Given the description of an element on the screen output the (x, y) to click on. 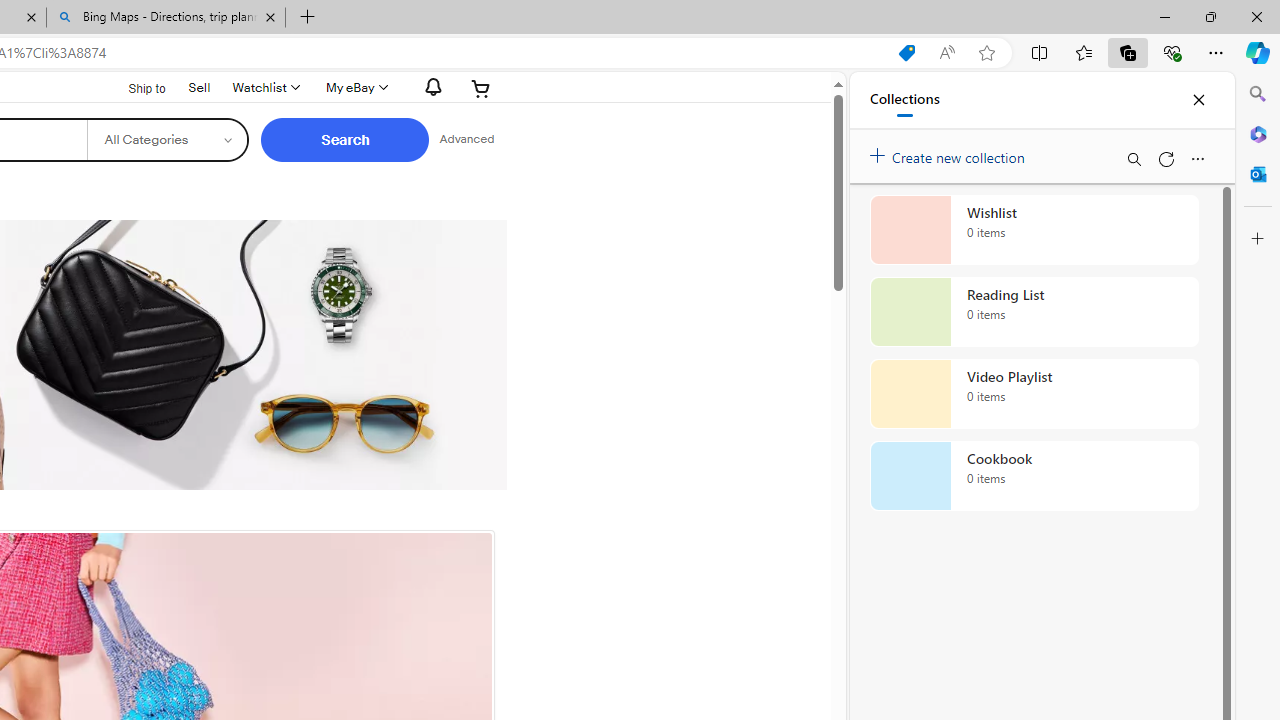
Sell (199, 86)
Watchlist (264, 88)
My eBay (354, 88)
Create new collection (950, 153)
Cookbook collection, 0 items (1034, 475)
More options menu (1197, 158)
Sell (199, 87)
